Given the description of an element on the screen output the (x, y) to click on. 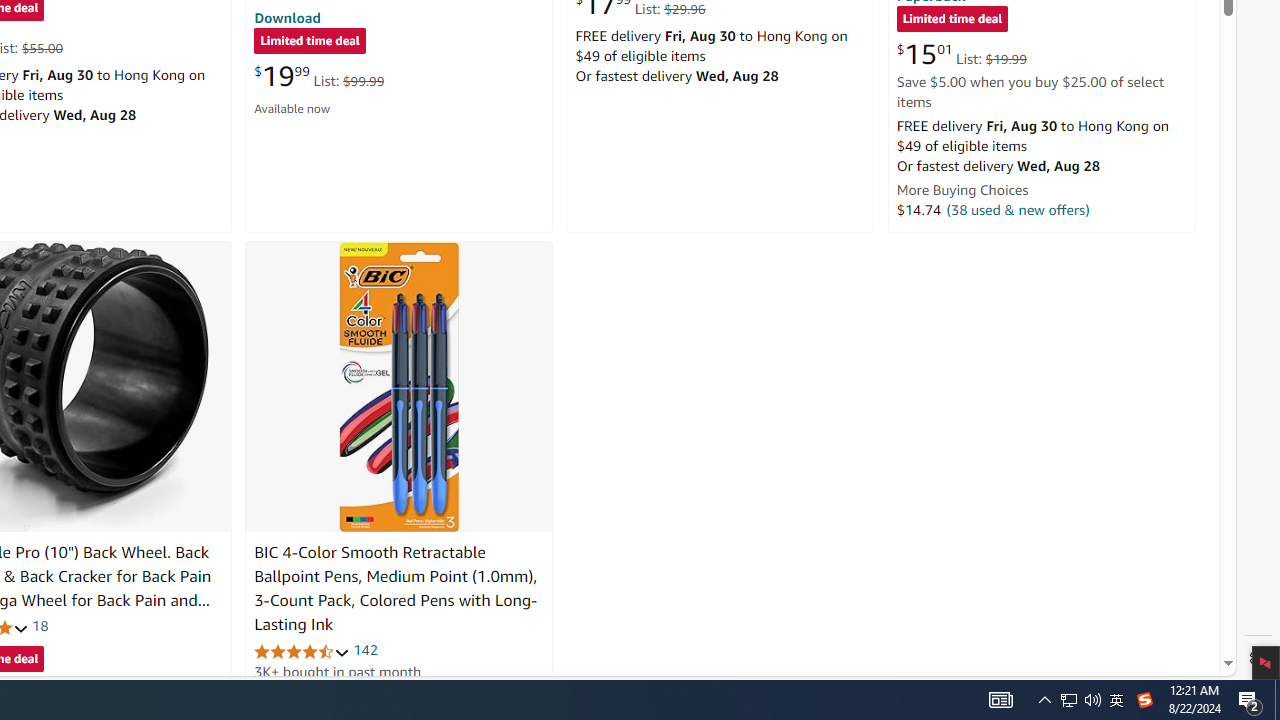
$15.01 List: $19.99 (961, 54)
Download (287, 17)
18 (40, 625)
4.6 out of 5 stars (301, 650)
$19.99 List: $99.99 (319, 76)
(38 used & new offers) (1017, 209)
Limited time deal (952, 20)
142 (365, 650)
Settings (1258, 658)
